Given the description of an element on the screen output the (x, y) to click on. 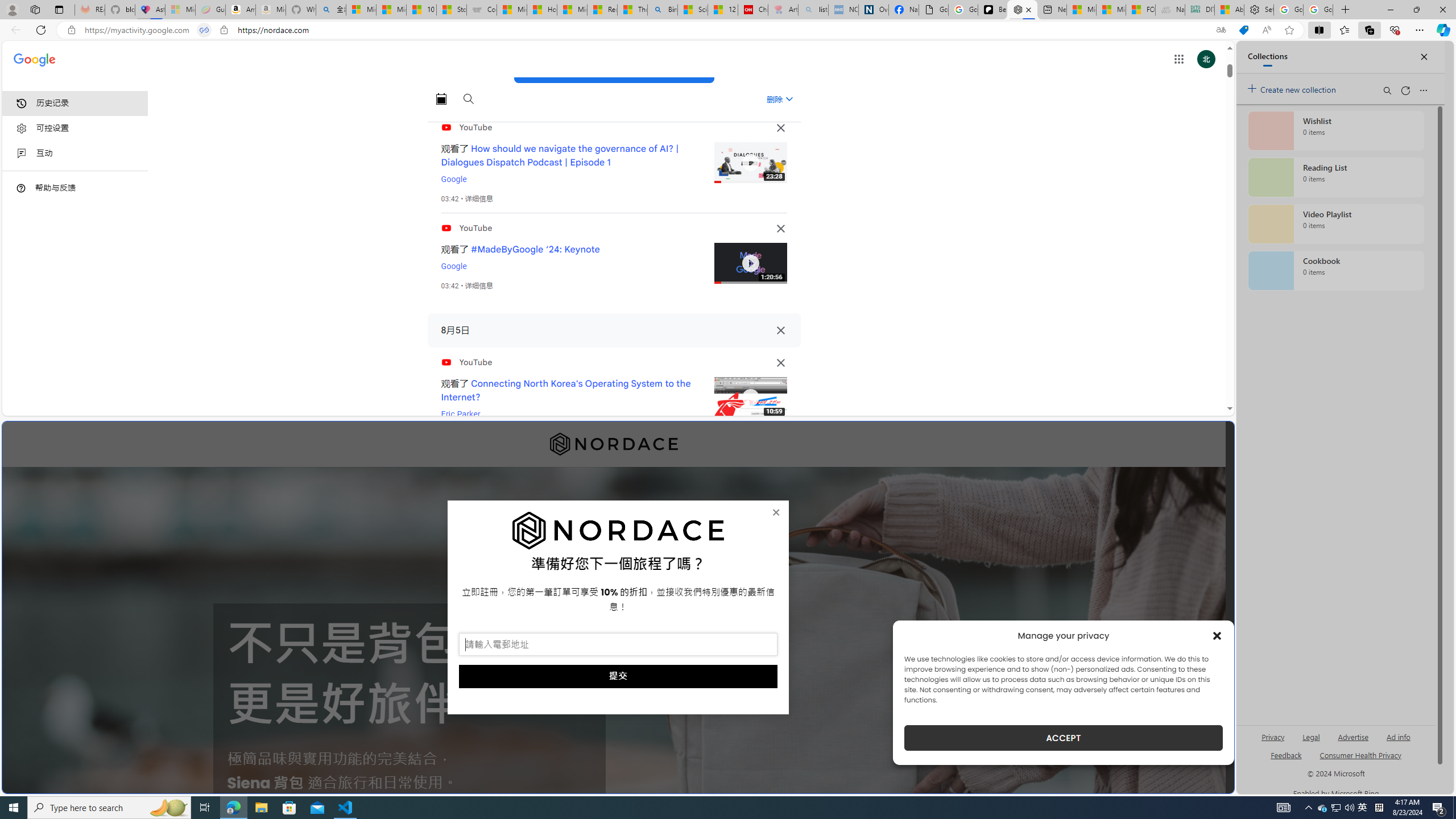
Class: TjcpUd NMm5M (780, 362)
FOX News - MSN (1140, 9)
Be Smart | creating Science videos | Patreon (991, 9)
Class: cmplz-close (1217, 635)
